Given the description of an element on the screen output the (x, y) to click on. 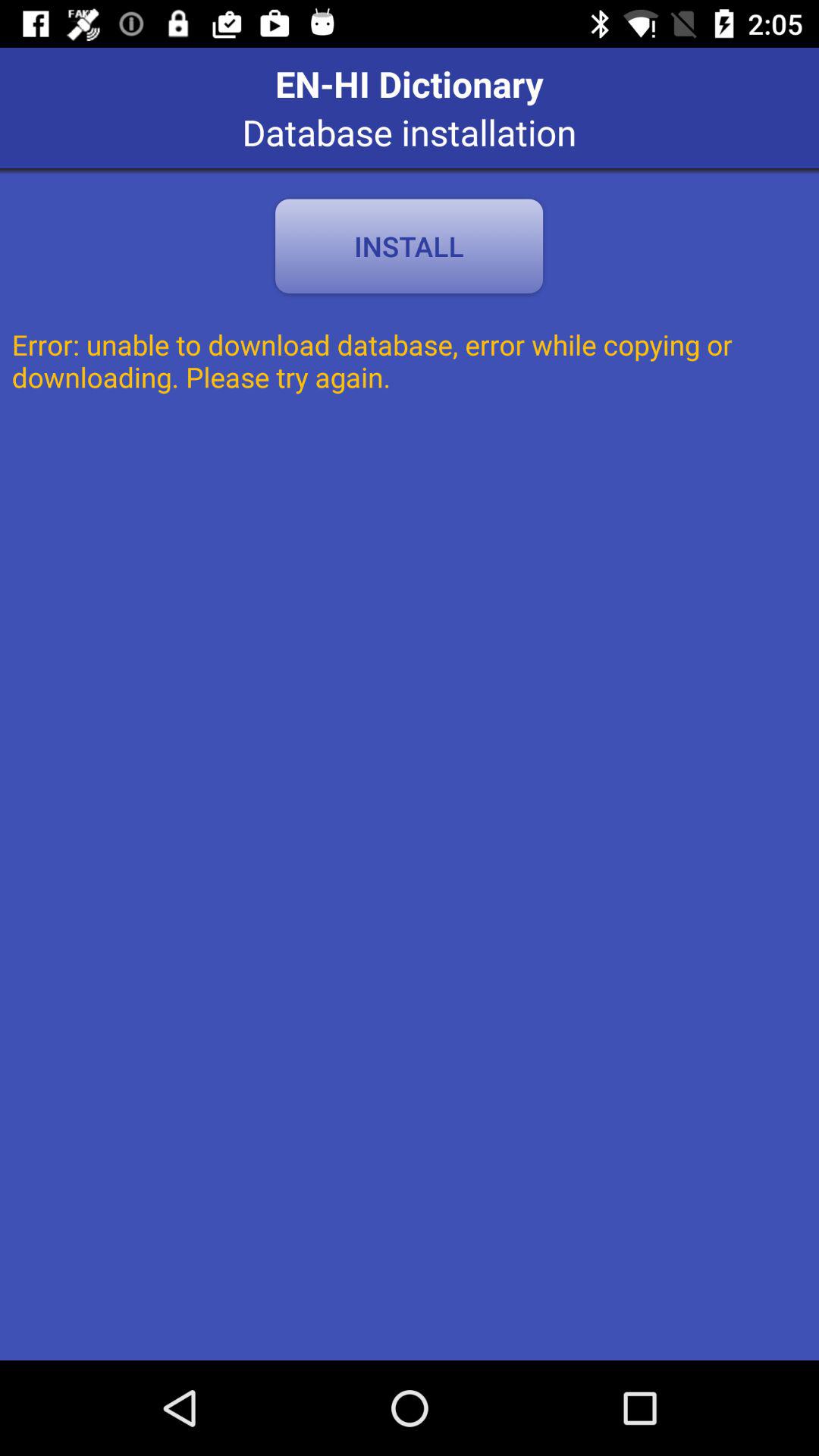
swipe to install button (408, 246)
